Given the description of an element on the screen output the (x, y) to click on. 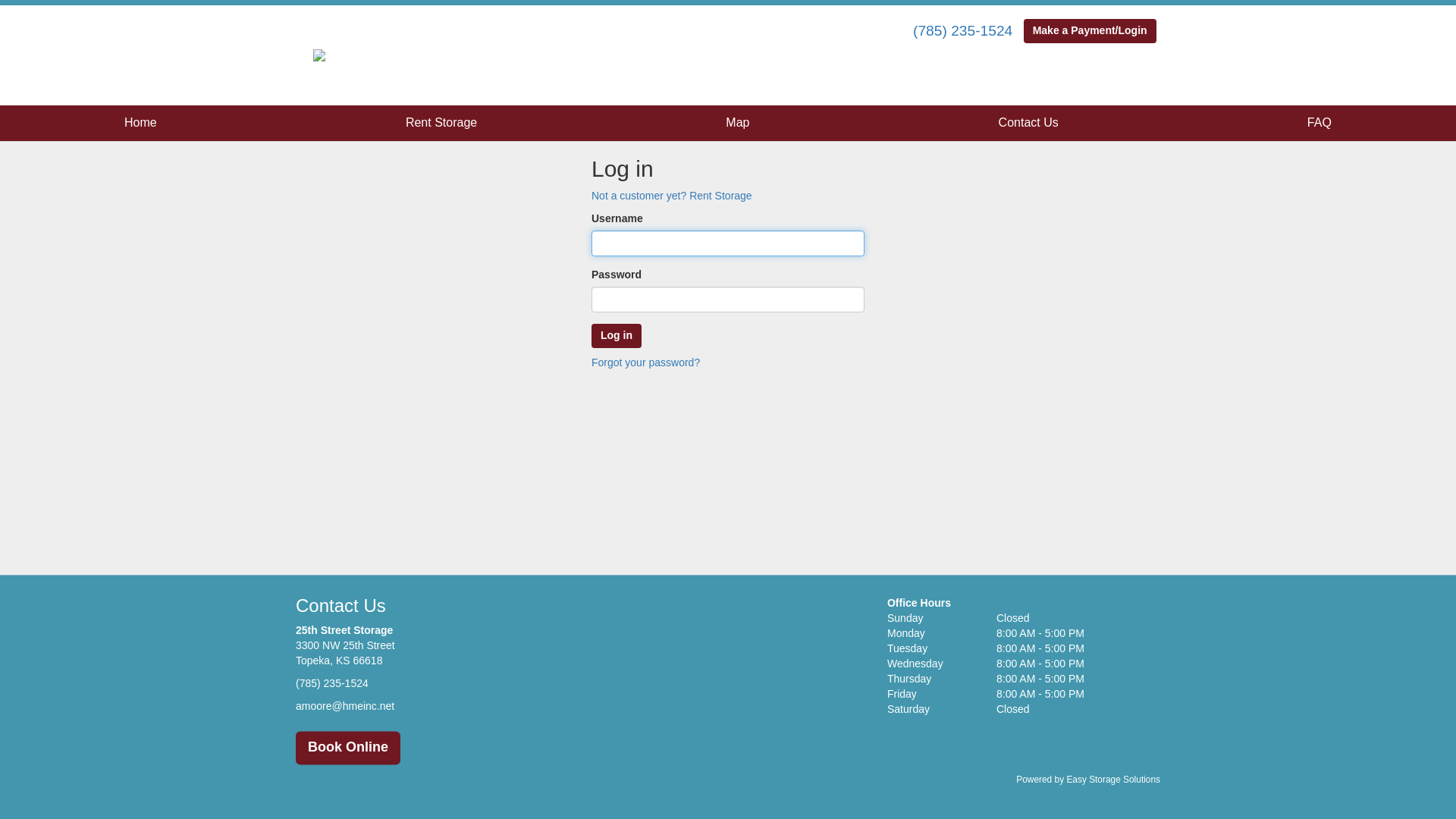
FAQ Element type: text (1319, 123)
amoore@hmeinc.net Element type: text (344, 705)
Log in Element type: text (616, 335)
Home Element type: text (140, 123)
Make a Payment/Login Element type: text (1089, 30)
Forgot your password? Element type: text (645, 362)
Book Online Element type: text (347, 747)
Map Element type: text (737, 123)
Easy Storage Solutions Element type: text (1113, 779)
Contact Us Element type: text (1028, 123)
Rent Storage Element type: text (441, 123)
(785) 235-1524 Element type: text (331, 683)
Not a customer yet? Rent Storage Element type: text (671, 195)
(785) 235-1524 Element type: text (962, 30)
